Given the description of an element on the screen output the (x, y) to click on. 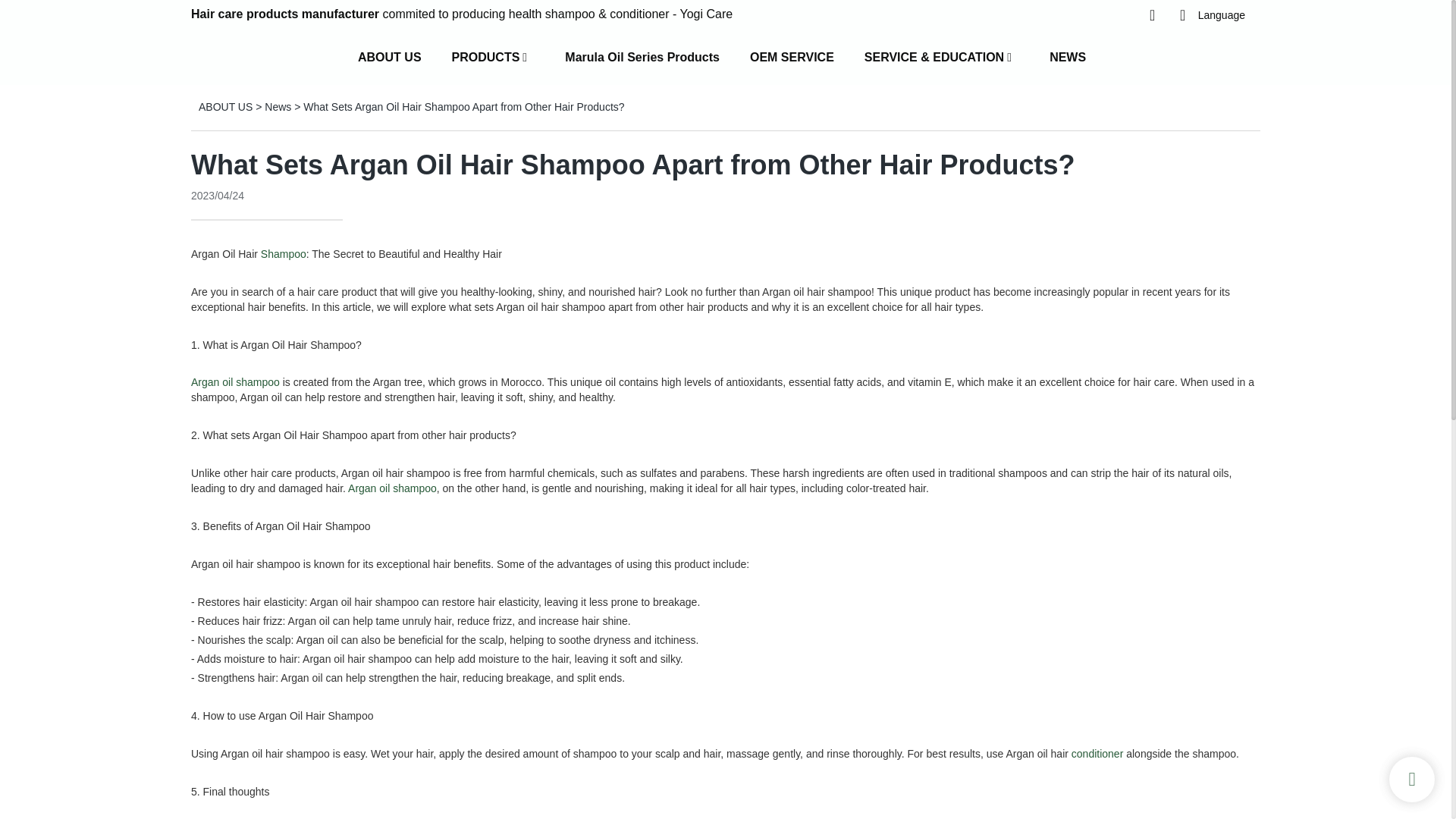
Shampoo (282, 254)
conditioner (1097, 753)
Argan oil shampoo (234, 381)
Argan oil shampoo (391, 488)
PRODUCTS (485, 57)
ABOUT US (390, 57)
OEM SERVICE (791, 57)
Marula Oil Series Products (641, 57)
